Given the description of an element on the screen output the (x, y) to click on. 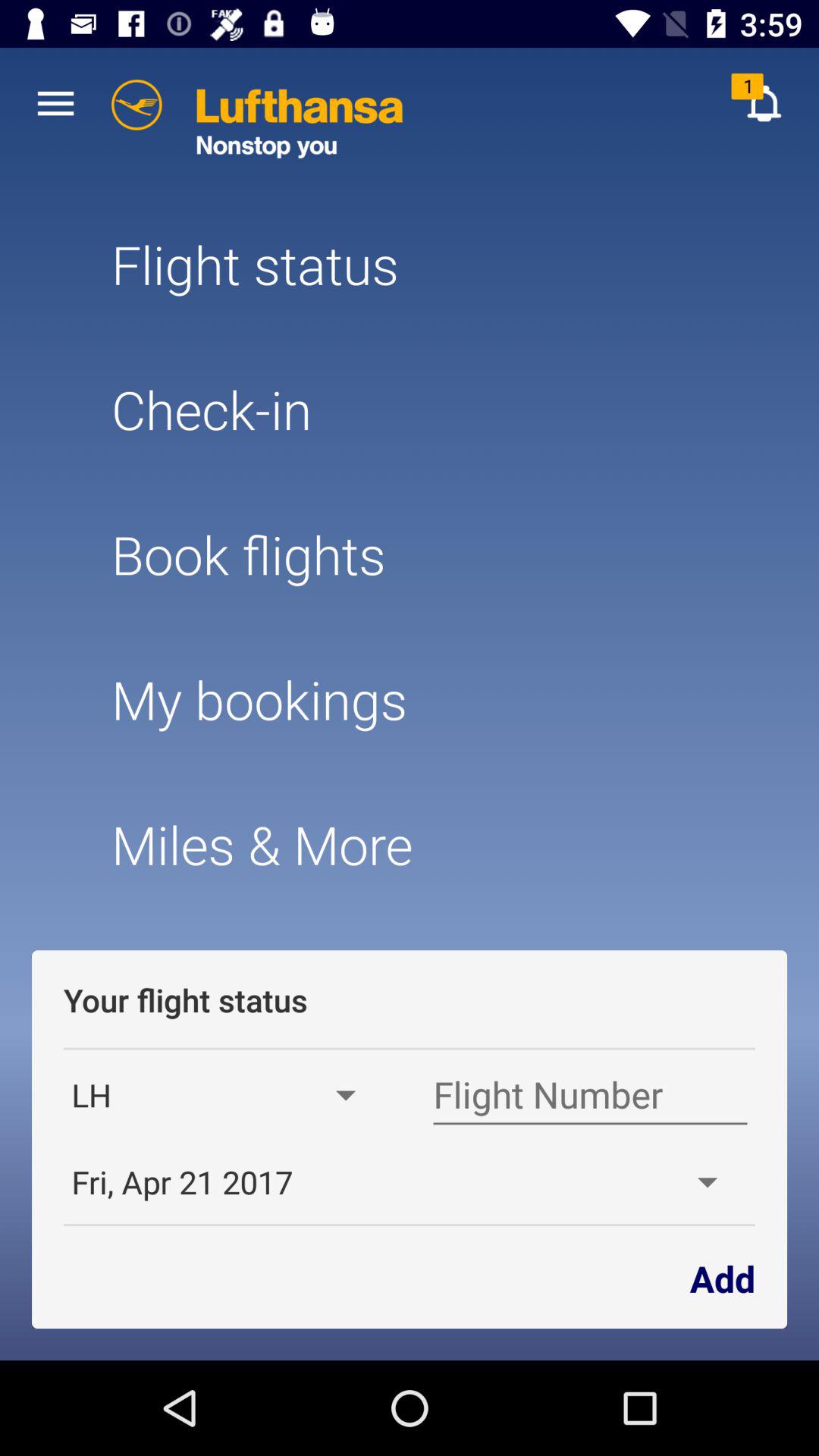
select my bookings icon (409, 699)
